Given the description of an element on the screen output the (x, y) to click on. 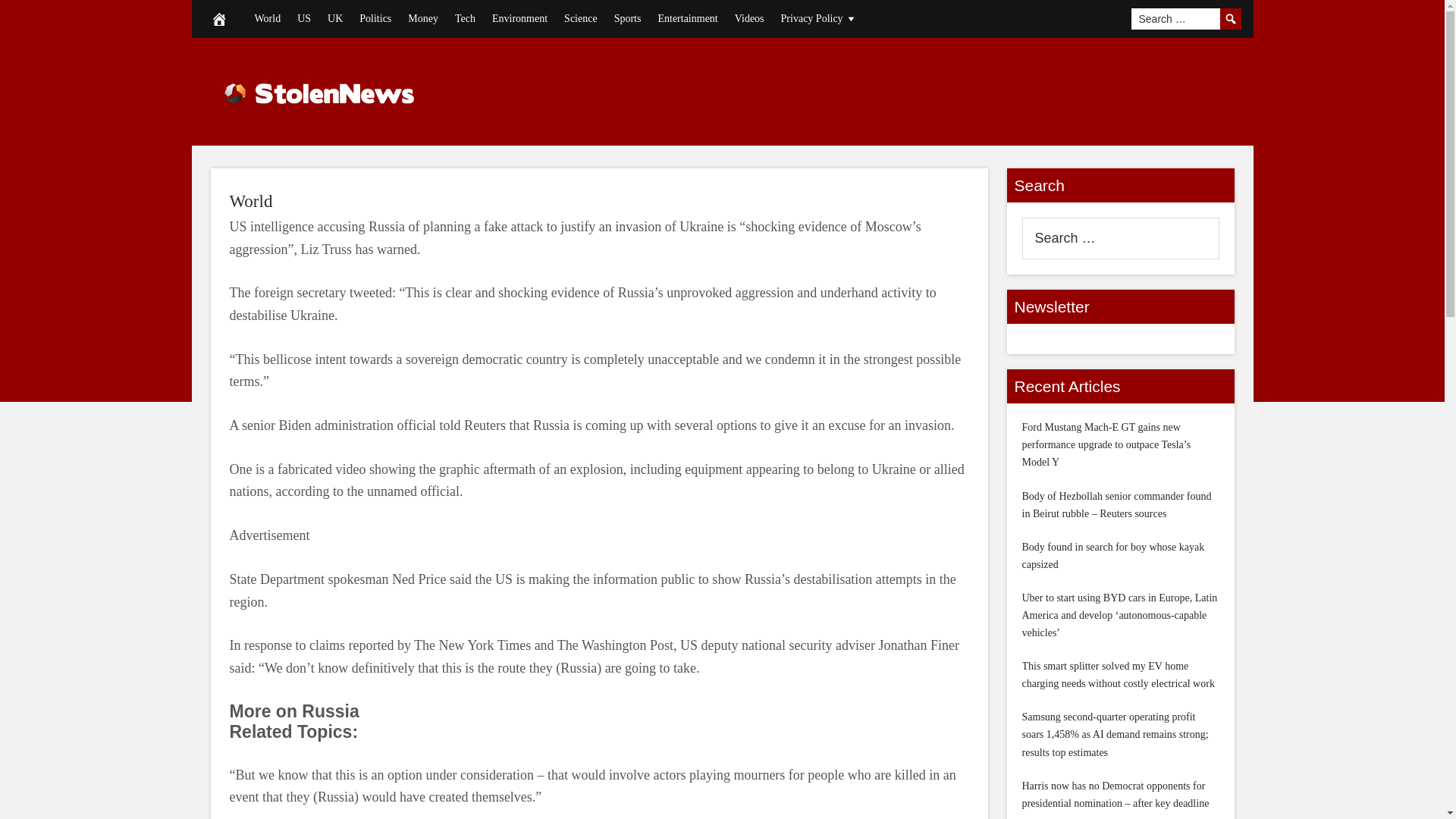
World (250, 200)
Entertainment (687, 18)
Videos (749, 18)
Science (580, 18)
Privacy Policy (819, 18)
Politics (374, 18)
Money (422, 18)
Environment (519, 18)
World (250, 200)
Tech (464, 18)
World (267, 18)
Sports (627, 18)
